Given the description of an element on the screen output the (x, y) to click on. 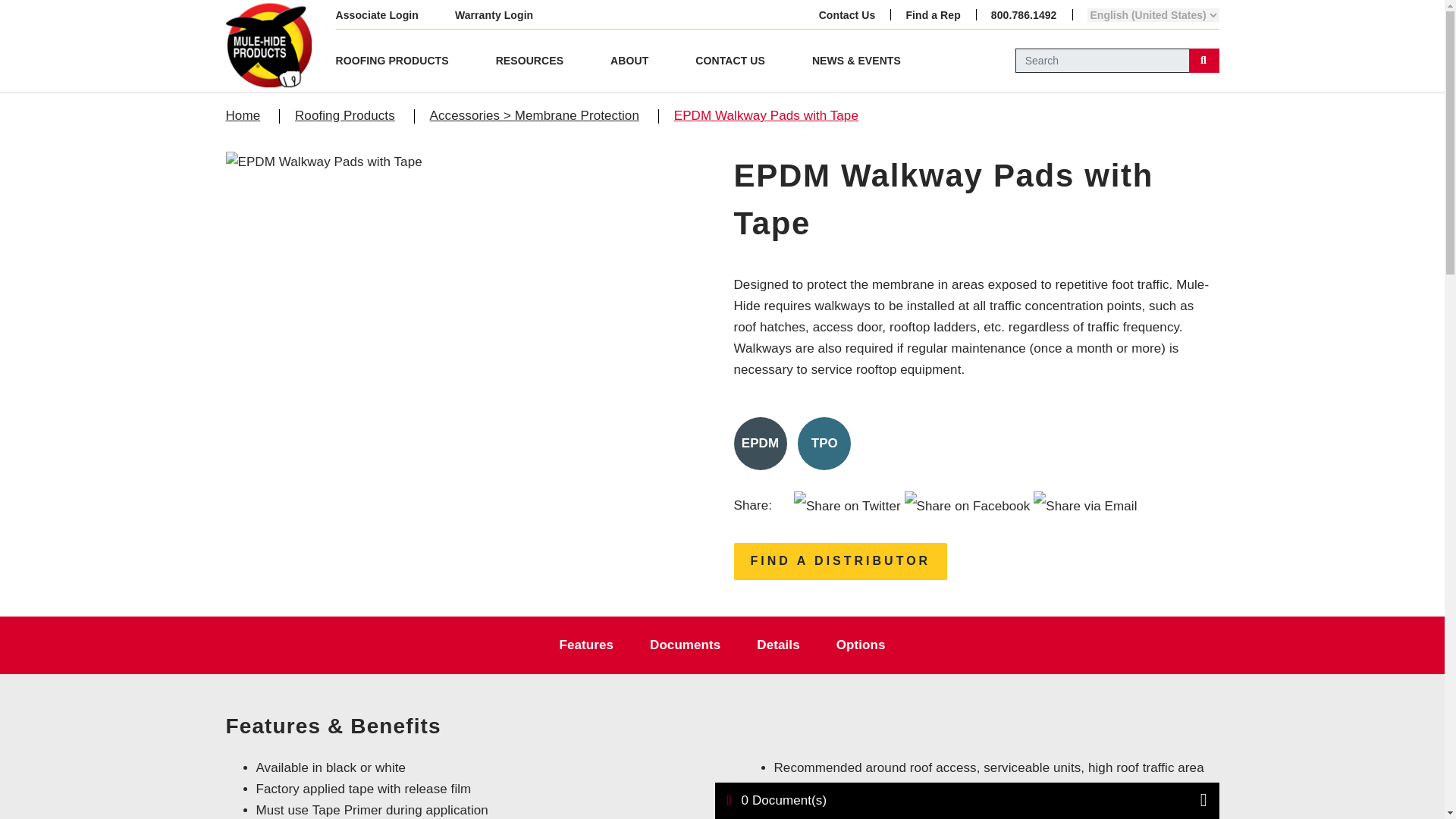
Find a Rep (932, 13)
Contact Us (847, 13)
EPDM Walkway Pads with Tape (751, 115)
ROOFING PRODUCTS (392, 59)
Submit (1204, 60)
CONTACT US (730, 59)
Roofing Products (328, 115)
Home (242, 115)
ABOUT (628, 59)
Associate Login (375, 15)
